Given the description of an element on the screen output the (x, y) to click on. 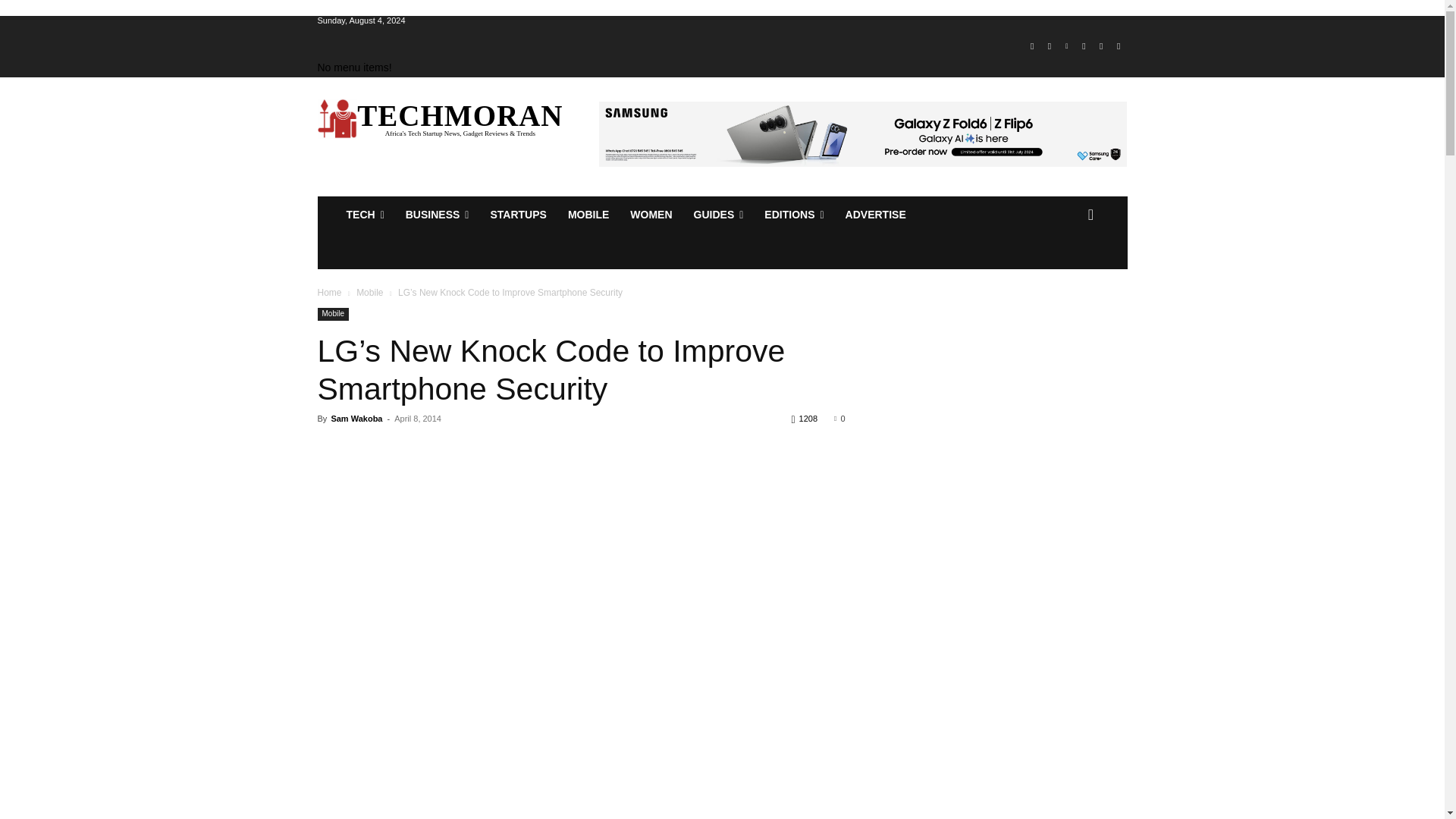
Facebook (1032, 46)
BUSINESS (437, 214)
Youtube (1117, 46)
MOBILE (588, 214)
GUIDES (718, 214)
WOMEN (651, 214)
Telegram (1084, 46)
Linkedin (1066, 46)
View all posts in Mobile (369, 292)
TECH (364, 214)
Twitter (1101, 46)
STARTUPS (517, 214)
Instagram (1049, 46)
Mobile (588, 214)
